Given the description of an element on the screen output the (x, y) to click on. 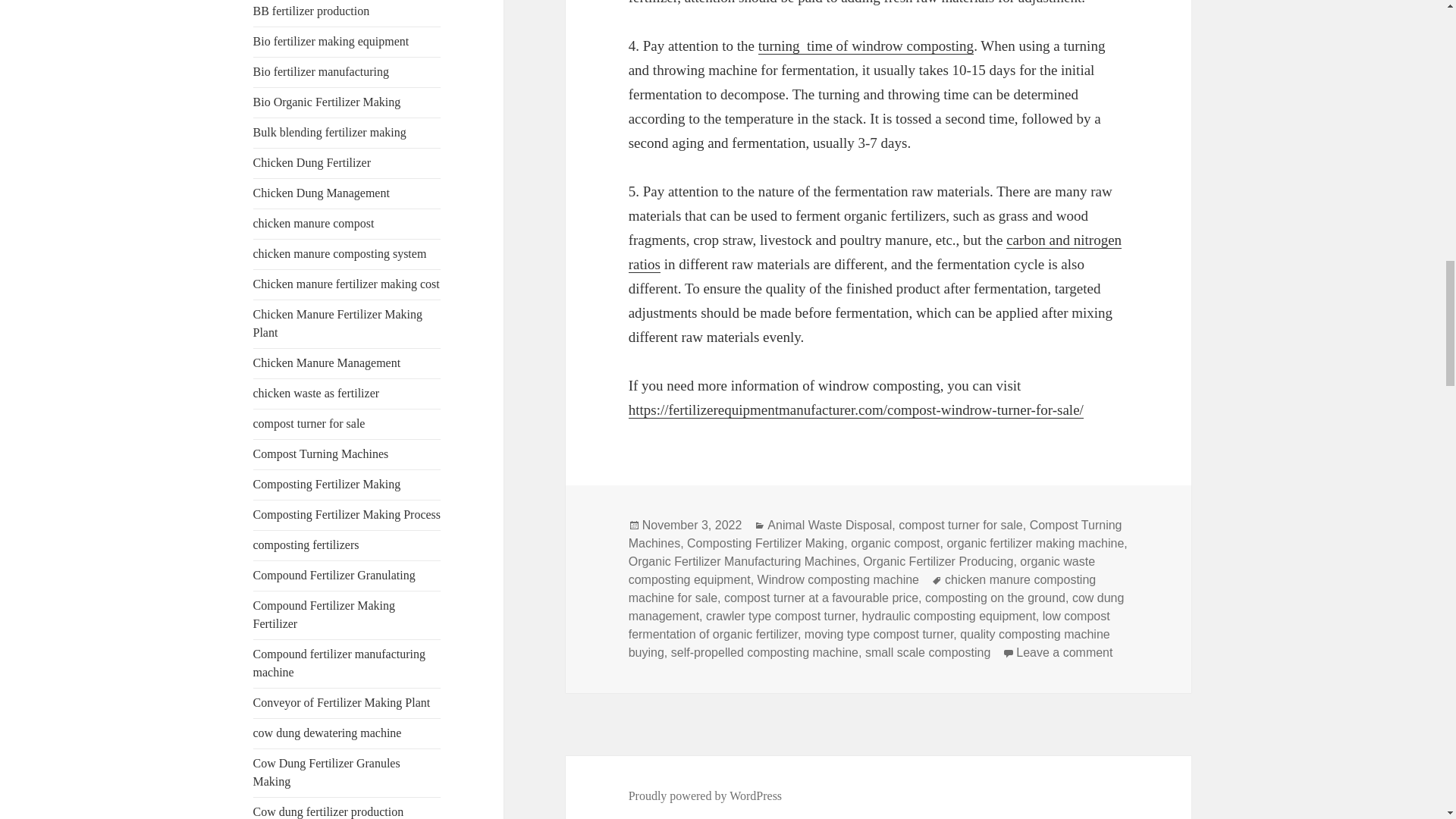
BB fertilizer production (311, 10)
Bulk blending fertilizer making (329, 132)
Bio Organic Fertilizer Making (327, 101)
Bio fertilizer making equipment (331, 41)
Bio fertilizer manufacturing (320, 71)
